Given the description of an element on the screen output the (x, y) to click on. 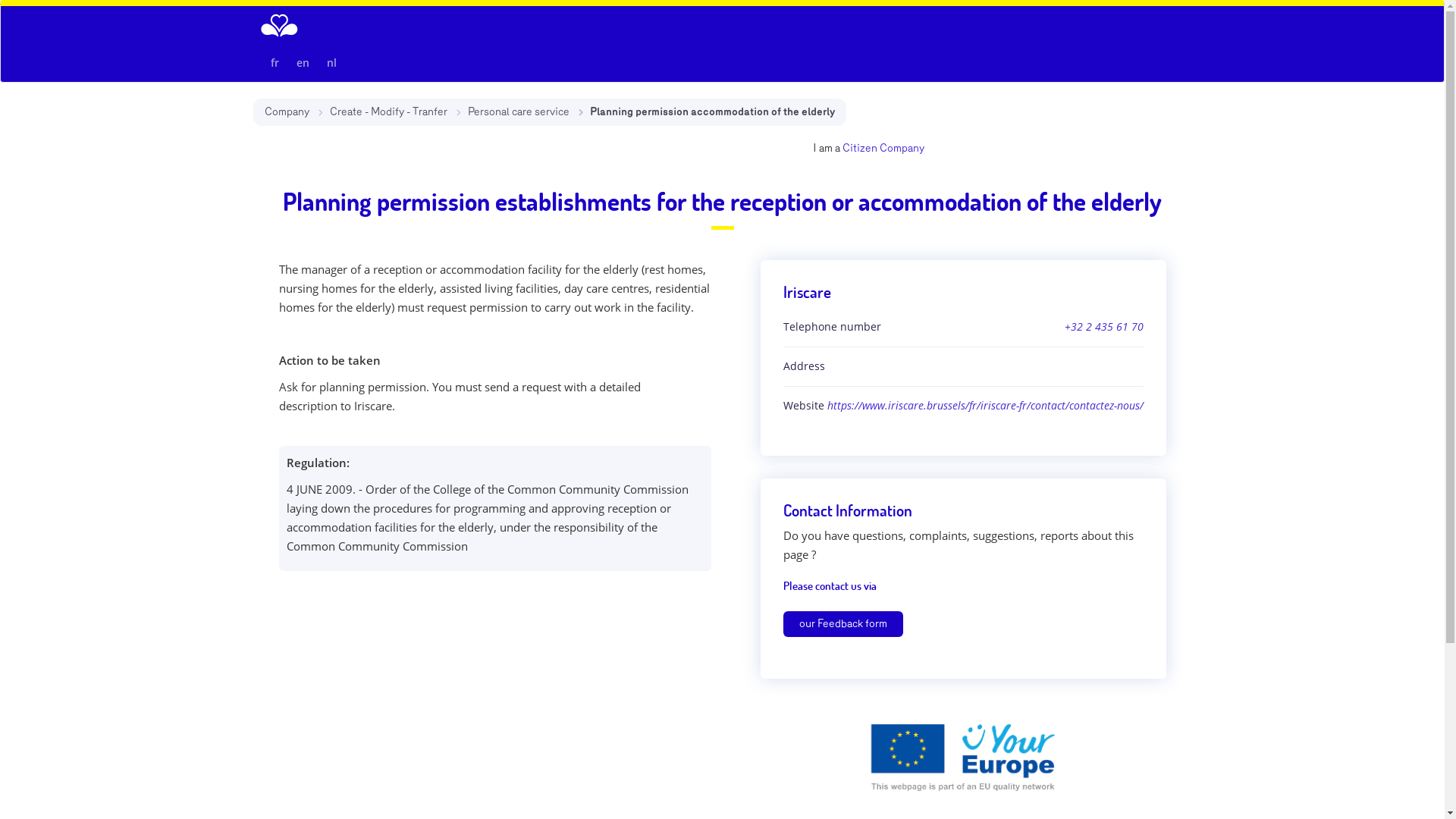
en Element type: text (302, 62)
our Feedback form Element type: text (842, 624)
Personal care service Element type: text (517, 111)
Create - Modify - Tranfer Element type: text (387, 111)
Company Element type: text (285, 111)
+32 2 435 61 70 Element type: text (1103, 326)
fr Element type: text (273, 62)
Company Element type: text (901, 147)
nl Element type: text (330, 62)
Citizen Element type: text (858, 147)
